Given the description of an element on the screen output the (x, y) to click on. 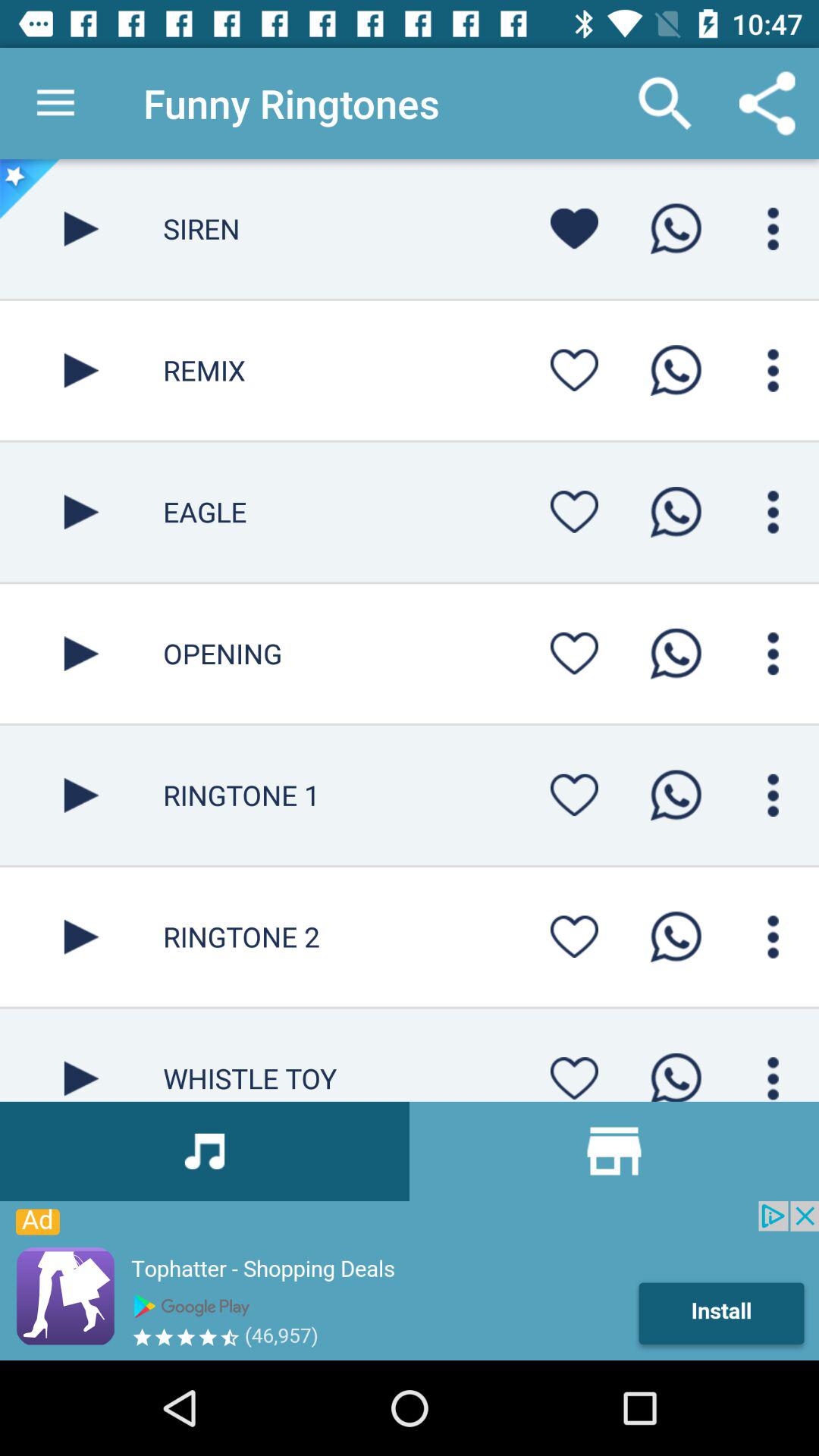
open more options (773, 228)
